Given the description of an element on the screen output the (x, y) to click on. 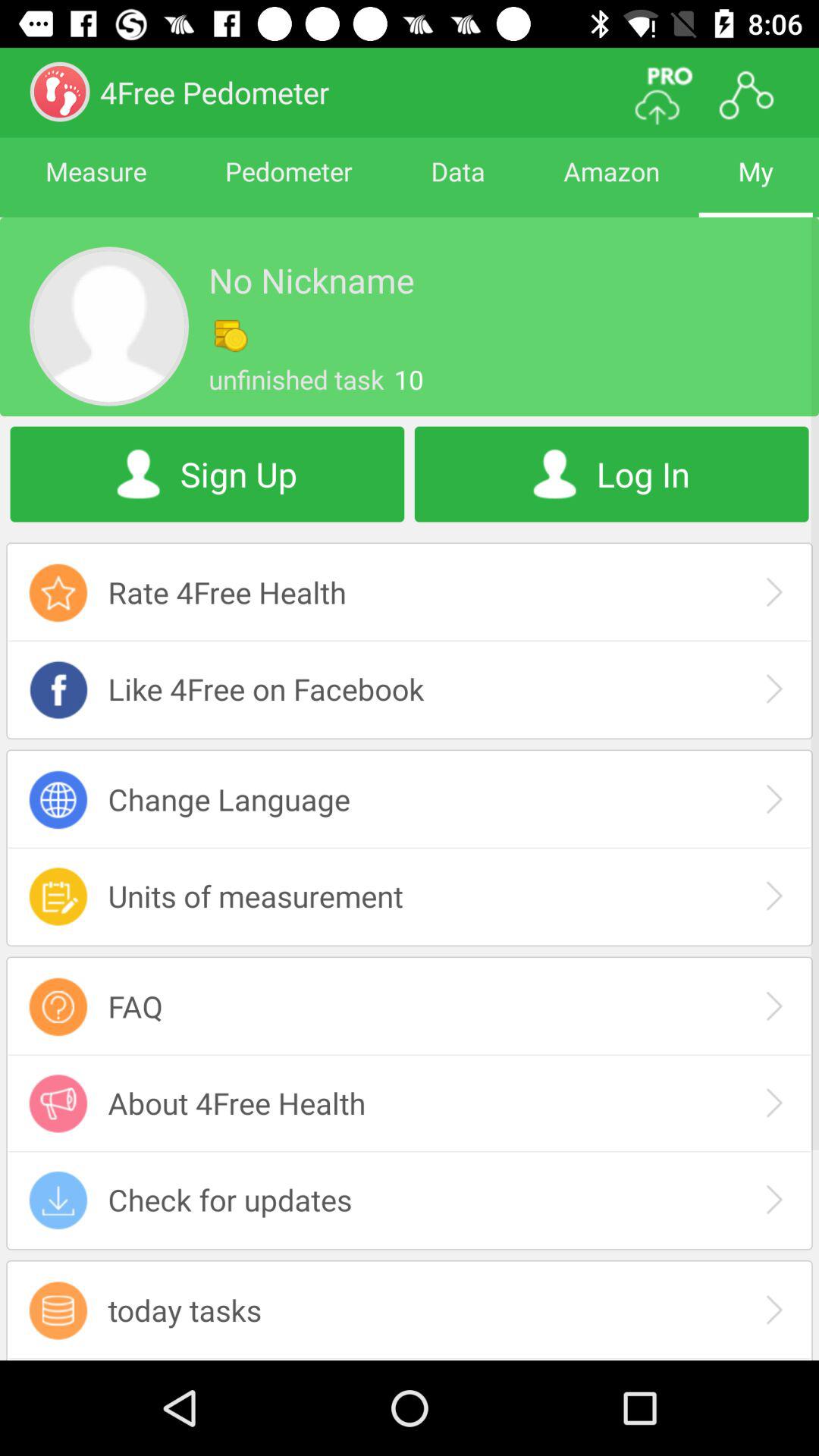
jump until the measure (95, 185)
